Given the description of an element on the screen output the (x, y) to click on. 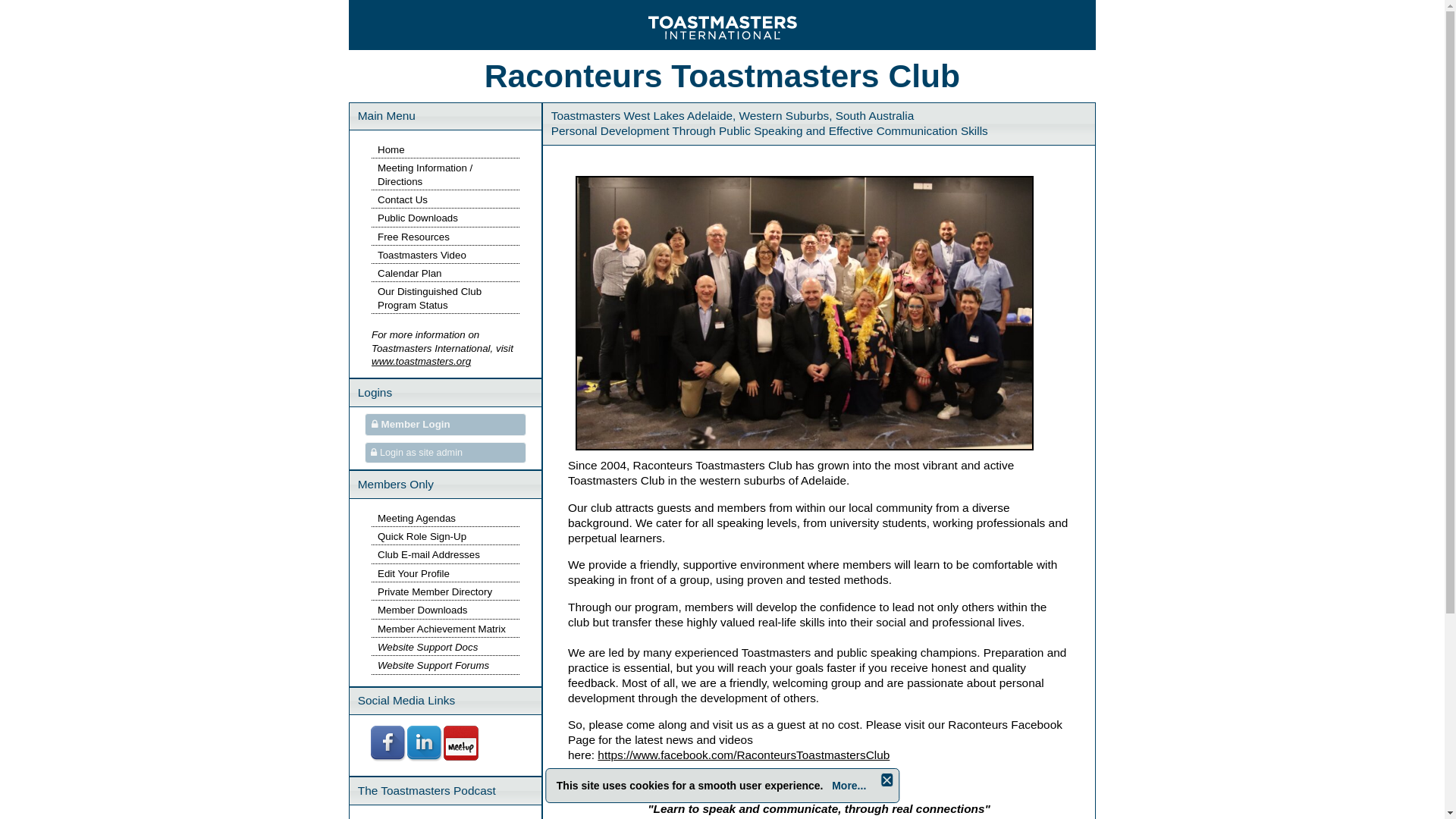
LinkedIn Element type: hover (425, 758)
Contact Us Element type: text (402, 199)
Member Login Element type: text (445, 424)
https://www.facebook.com/RaconteursToastmastersClub Element type: text (743, 754)
Facebook Element type: hover (388, 758)
Click to Visit Toastmasters Website Element type: hover (722, 24)
Public Downloads Element type: text (417, 217)
Login as site admin Element type: text (445, 453)
www.toastmasters.org Element type: text (420, 361)
Free Resources Element type: text (413, 236)
Home Element type: text (390, 149)
Raconteurs Toastmasters Club Element type: text (722, 75)
Toastmasters Video Element type: text (421, 254)
Calendar Plan Element type: text (409, 273)
Meeting Information / Directions Element type: text (424, 174)
MeetUp Element type: hover (461, 758)
More... Element type: text (848, 785)
Our Distinguished Club Program Status Element type: text (429, 297)
